Given the description of an element on the screen output the (x, y) to click on. 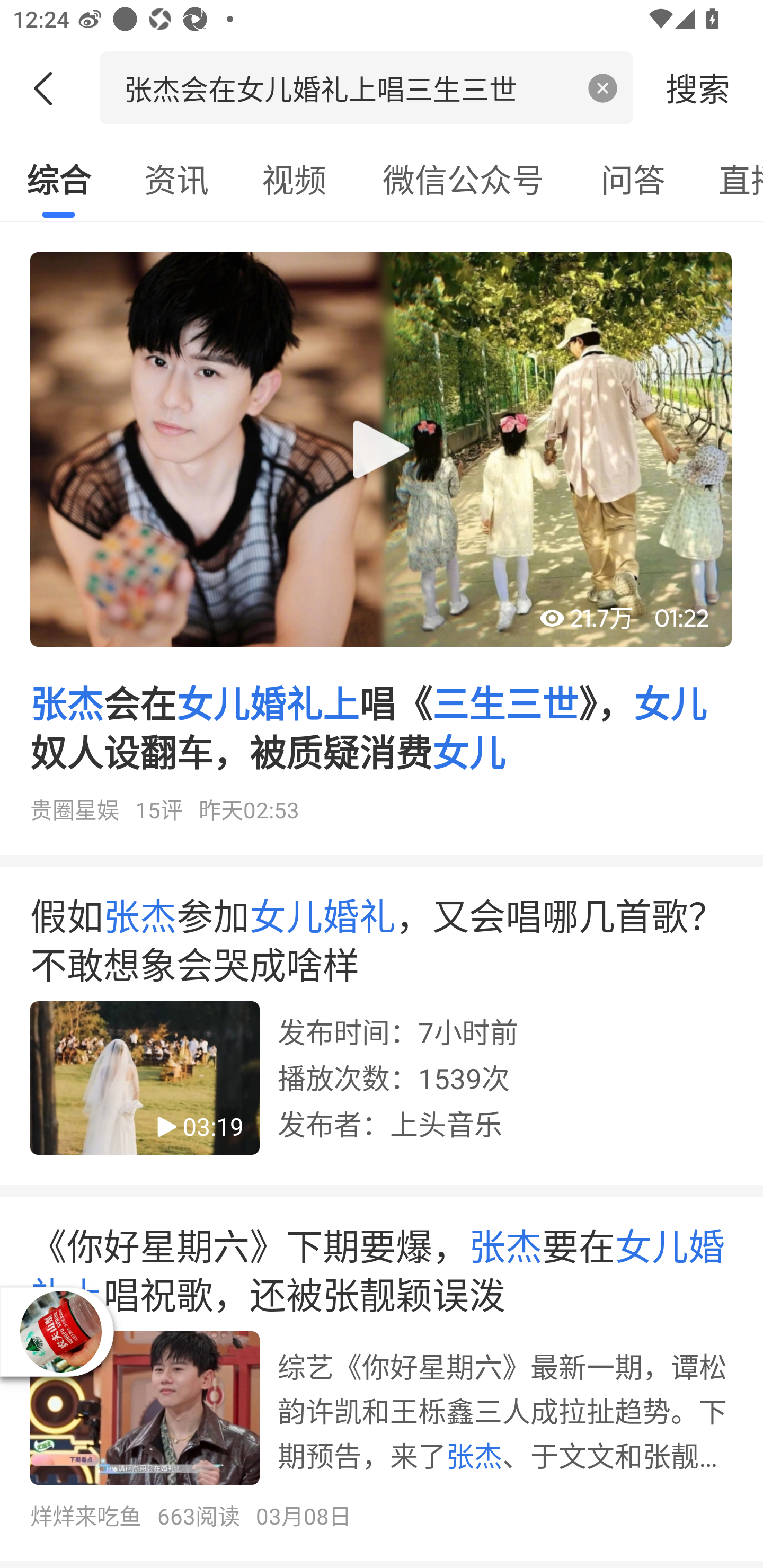
返回 (49, 87)
搜索 (698, 87)
张杰会在女儿婚礼上唱三生三世 (347, 87)
清空 (602, 88)
已选中综合 (58, 179)
资讯，可选中 (176, 179)
视频，可选中 (293, 179)
微信公众号，可选中 (463, 179)
问答，可选中 (633, 179)
张杰会在女儿婚礼上唱《三生三世》，女儿奴人设翻车，被质疑消费女儿 (381, 544)
假如张杰参加女儿婚礼，又会唱哪几首歌？不敢想象会哭成啥样 (381, 1032)
播放器 (60, 1331)
